Given the description of an element on the screen output the (x, y) to click on. 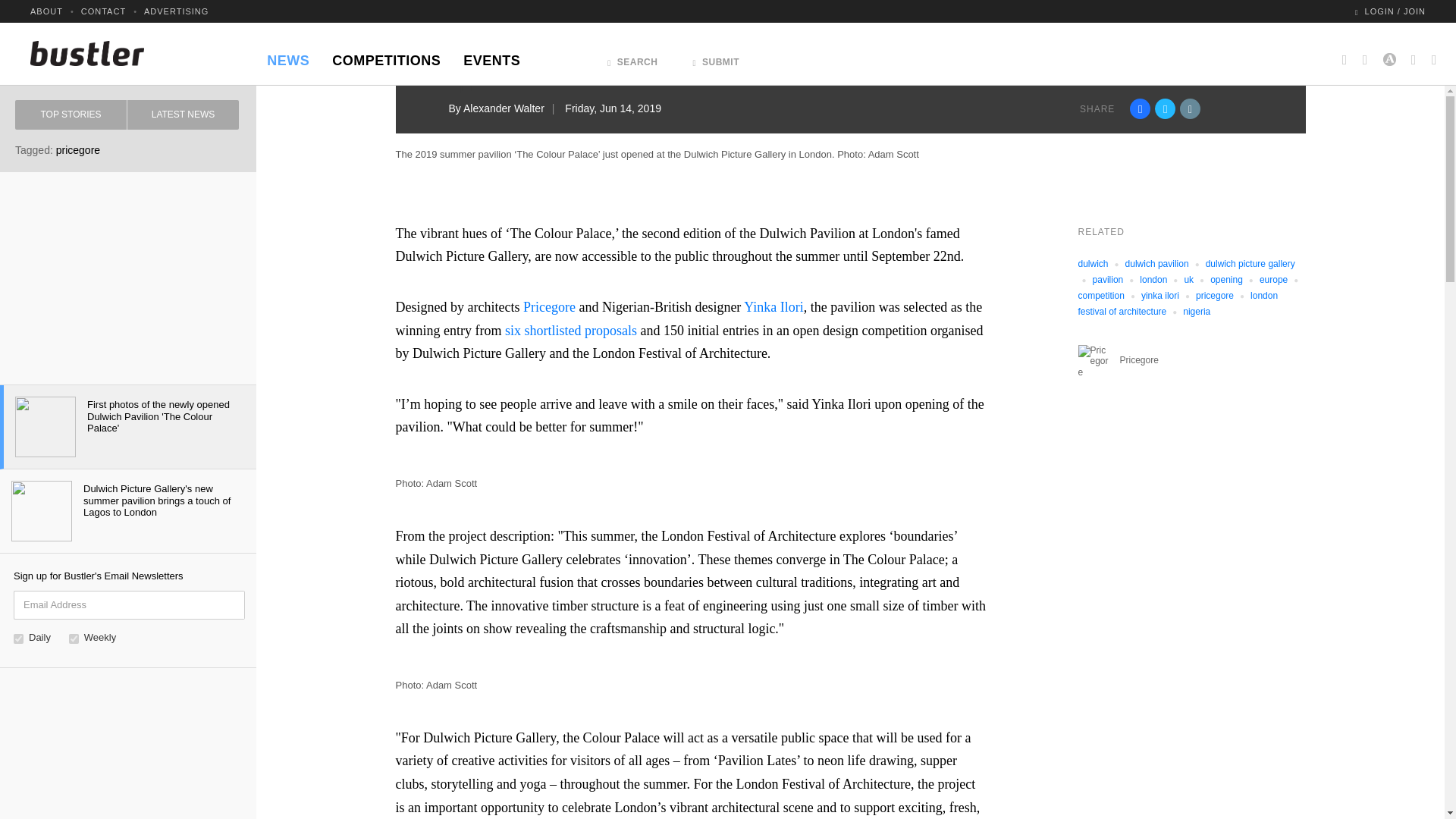
ADVERTISING (176, 10)
SEARCH (632, 57)
Bustler is powered by Archinect (1389, 53)
ABOUT (46, 10)
NEWS (288, 56)
SUBMIT (715, 57)
COMPETITIONS (385, 56)
CONTACT (103, 10)
EVENTS (491, 56)
